Given the description of an element on the screen output the (x, y) to click on. 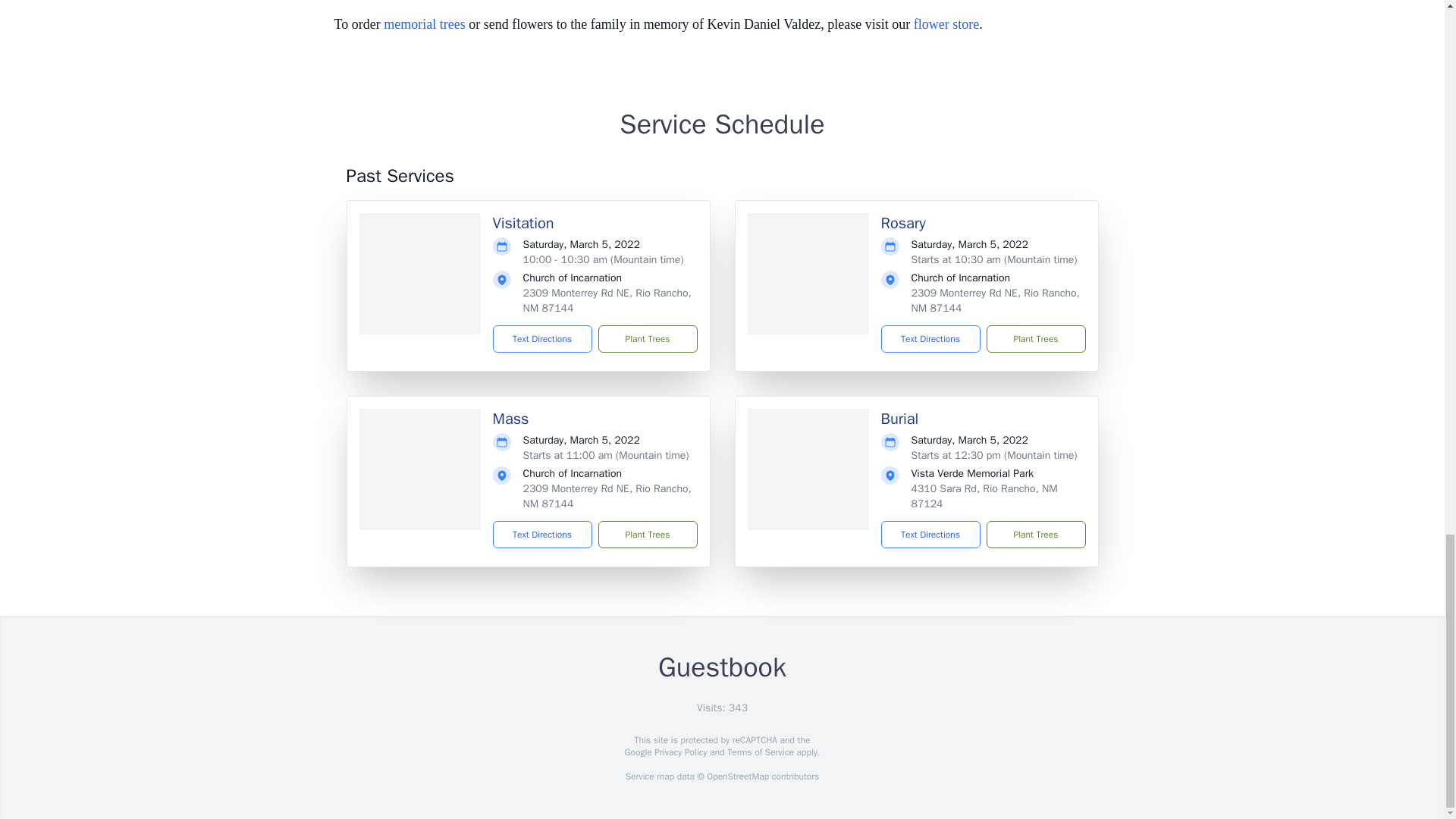
Plant Trees (1034, 338)
flower store (946, 23)
memorial trees (424, 23)
Text Directions (929, 533)
Text Directions (929, 338)
Plant Trees (1034, 533)
Text Directions (542, 338)
2309 Monterrey Rd NE, Rio Rancho, NM 87144 (606, 300)
Plant Trees (646, 338)
Text Directions (542, 533)
2309 Monterrey Rd NE, Rio Rancho, NM 87144 (995, 300)
Plant Trees (646, 533)
4310 Sara Rd, Rio Rancho, NM 87124 (984, 496)
2309 Monterrey Rd NE, Rio Rancho, NM 87144 (606, 496)
